Given the description of an element on the screen output the (x, y) to click on. 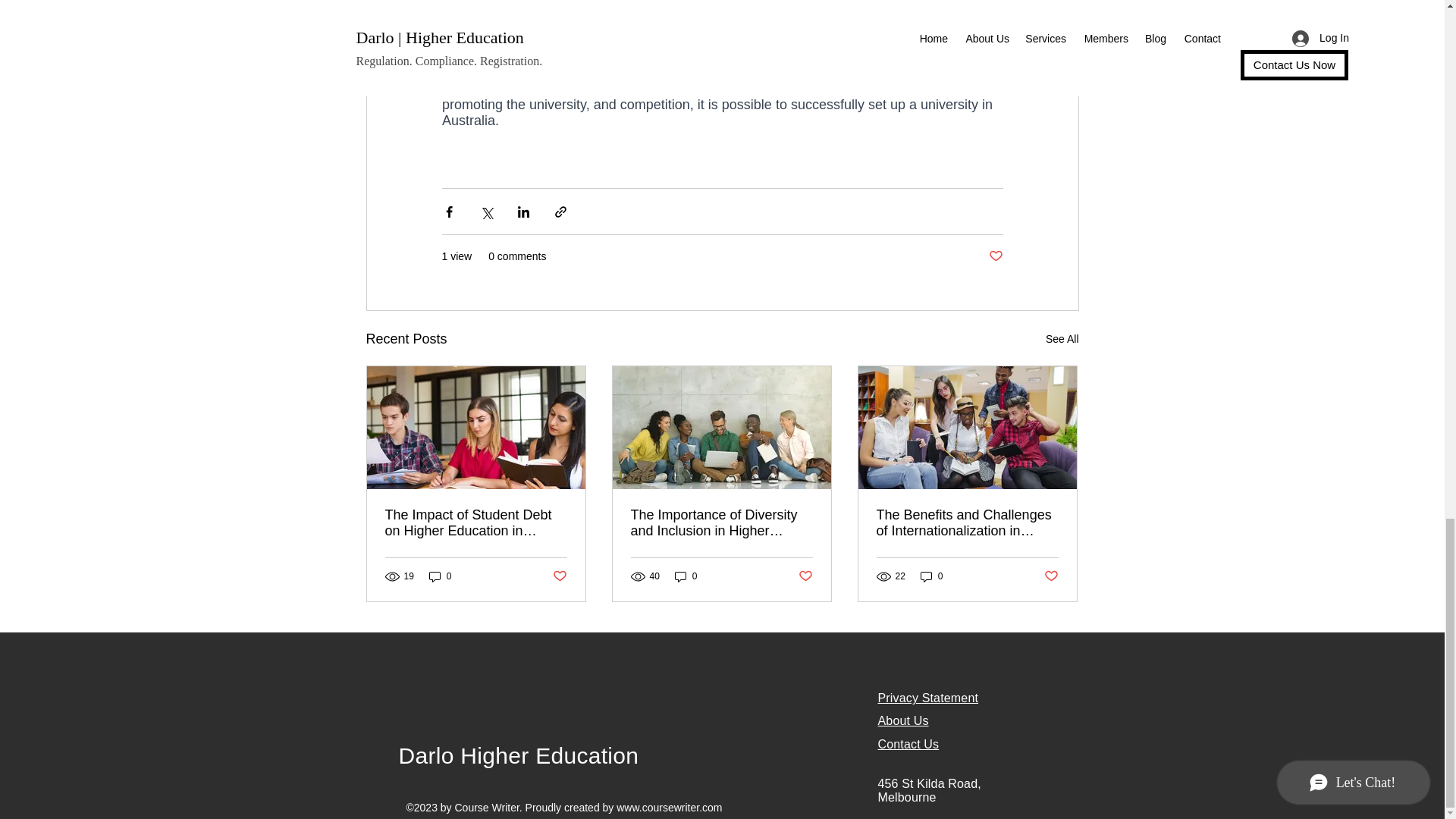
The Impact of Student Debt on Higher Education in Australia (476, 522)
Post not marked as liked (1050, 576)
Contact Us (908, 744)
See All (1061, 339)
www.coursewriter.com (668, 807)
Privacy Statement (927, 697)
About Us (902, 720)
Post not marked as liked (558, 576)
Post not marked as liked (995, 256)
